Given the description of an element on the screen output the (x, y) to click on. 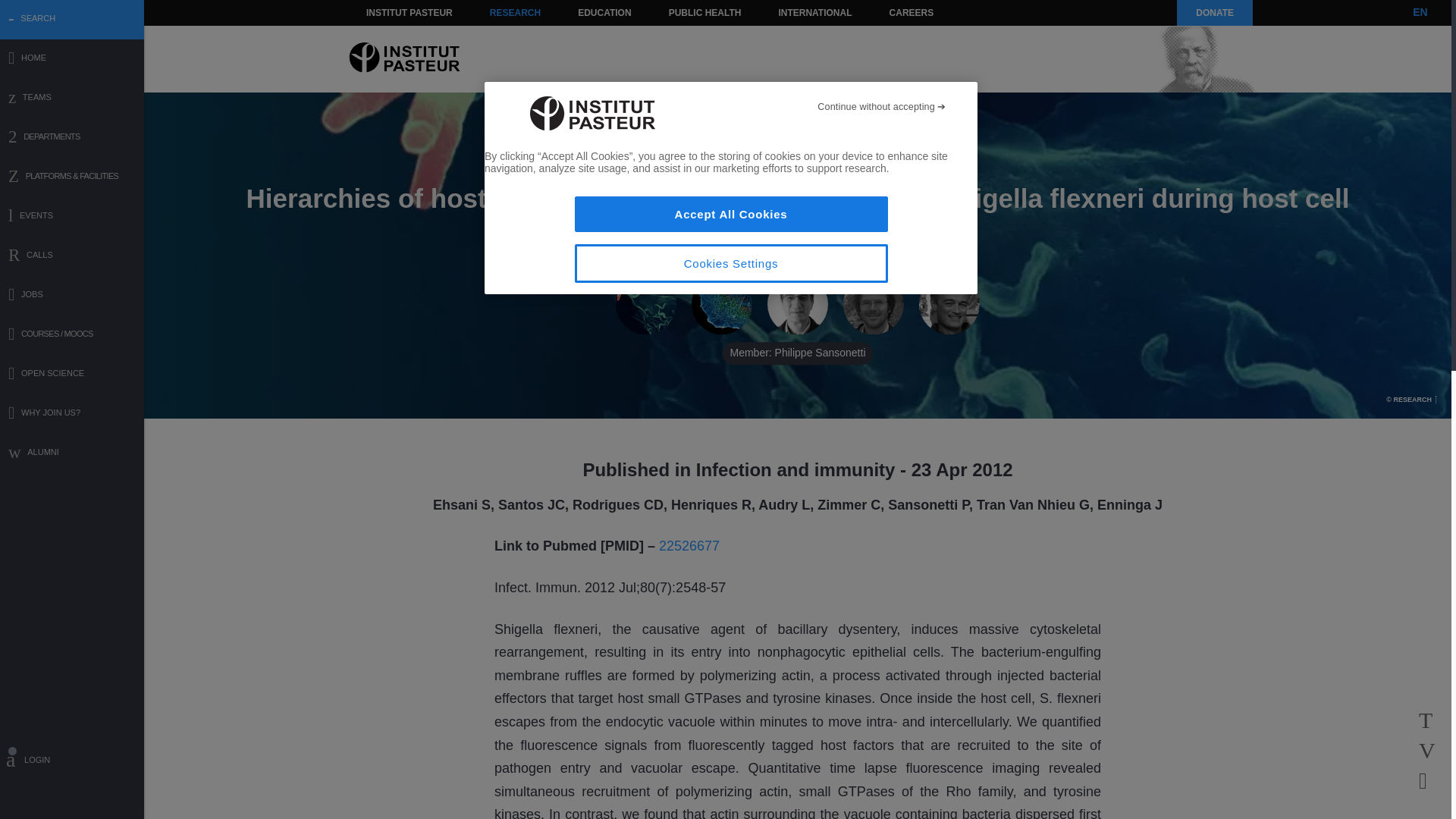
DONATE (1214, 12)
EVENTS (72, 217)
OPEN SCIENCE (72, 374)
CAREERS (911, 12)
PUBLIC HEALTH (705, 12)
LOGIN (72, 762)
HOME (72, 59)
DEPARTMENTS (72, 137)
Member: Philippe Sansonetti (797, 304)
EDUCATION (603, 12)
INSTITUT PASTEUR (409, 12)
WHY JOIN US? (72, 413)
Skip to content (387, 11)
22526677 (689, 545)
EN (1419, 11)
